Given the description of an element on the screen output the (x, y) to click on. 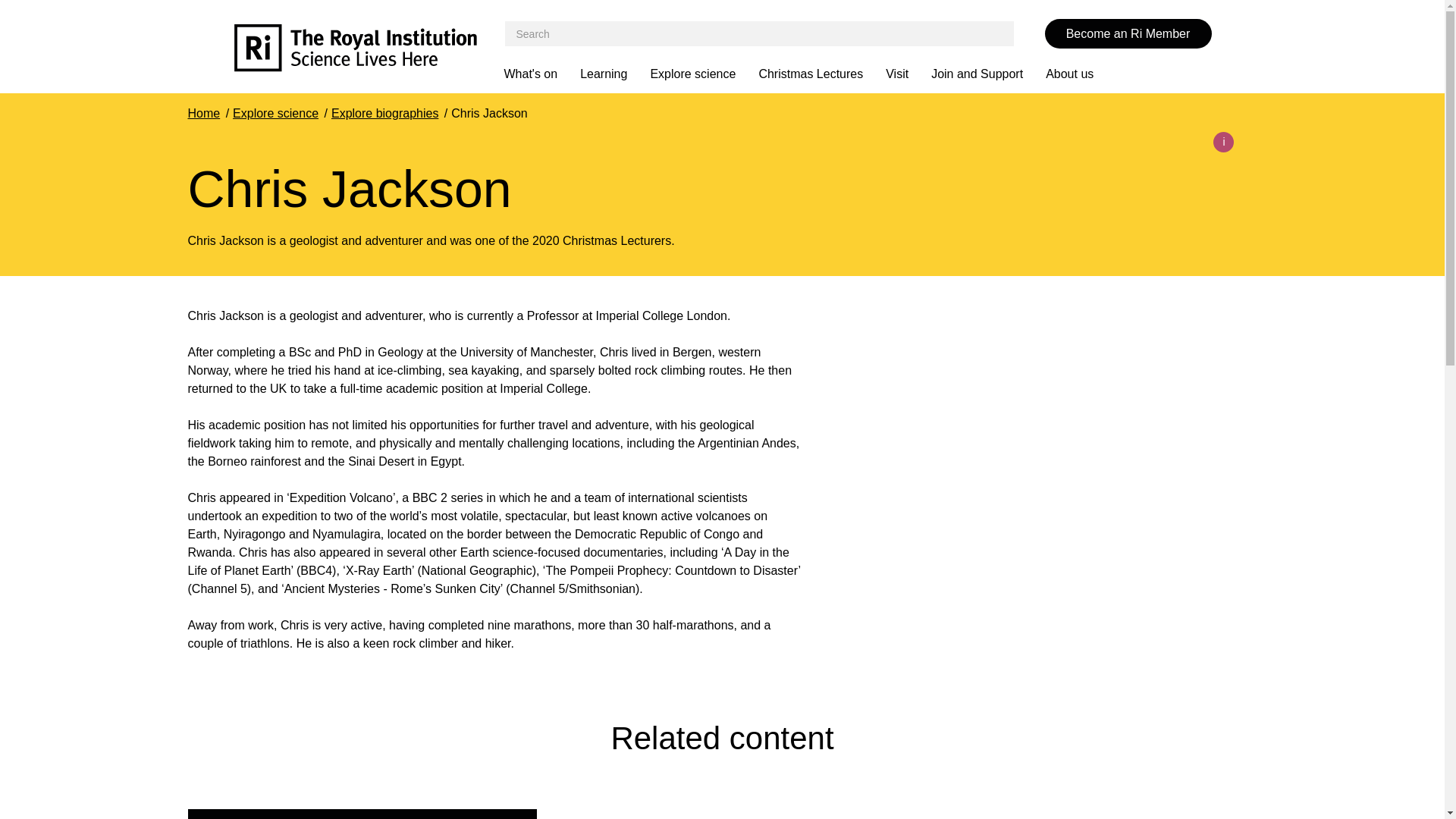
Explore biographies (384, 113)
Become an Ri Member (1128, 33)
i (1222, 141)
What's on (541, 74)
Visit (908, 74)
Explore science (703, 74)
Explore science (275, 113)
Christmas Lectures (821, 74)
Learning (614, 74)
Royal Institution (367, 50)
Home (204, 113)
Join and Support (988, 74)
About us (1080, 74)
